Given the description of an element on the screen output the (x, y) to click on. 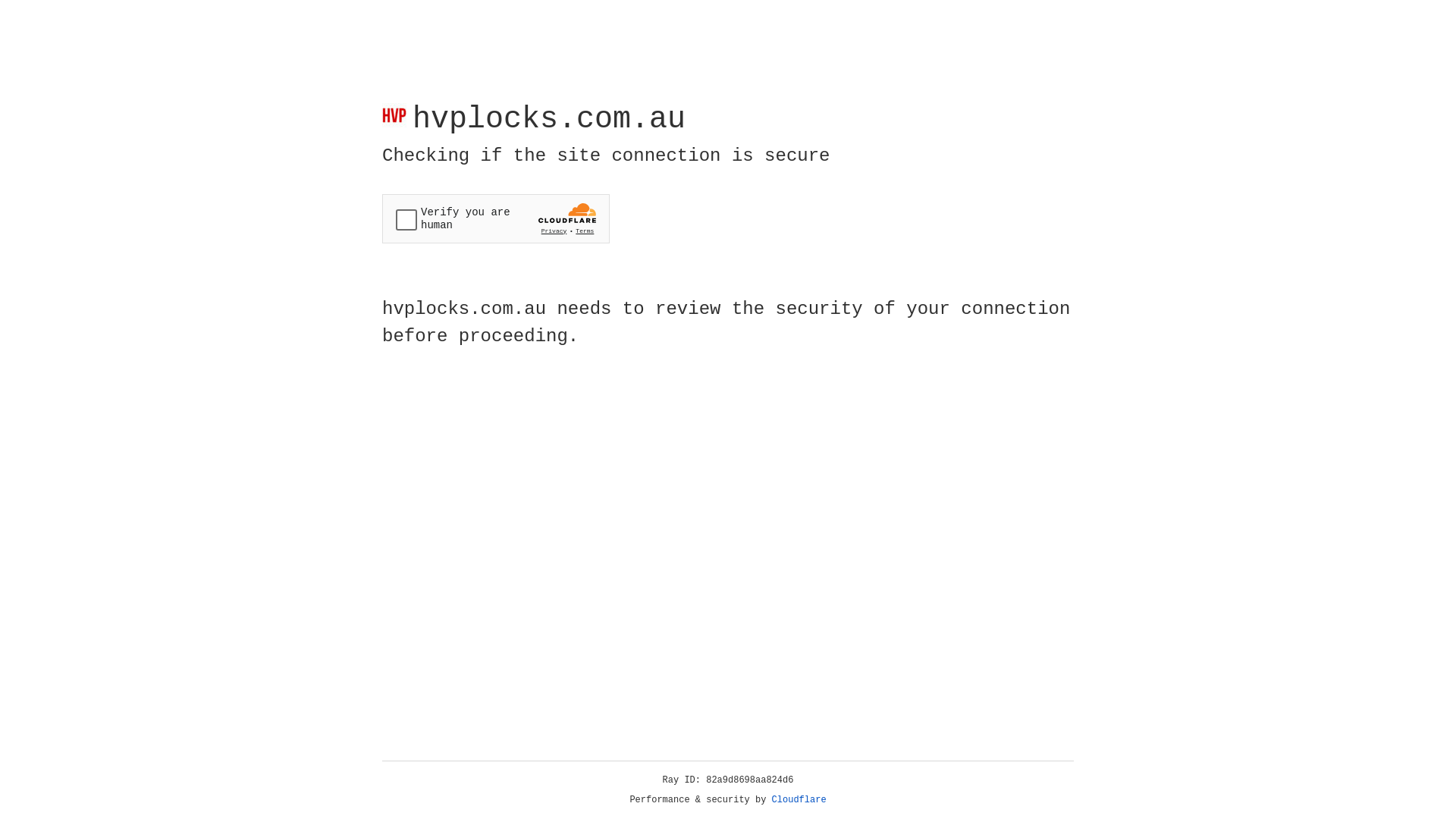
Cloudflare Element type: text (798, 799)
Widget containing a Cloudflare security challenge Element type: hover (495, 218)
